Given the description of an element on the screen output the (x, y) to click on. 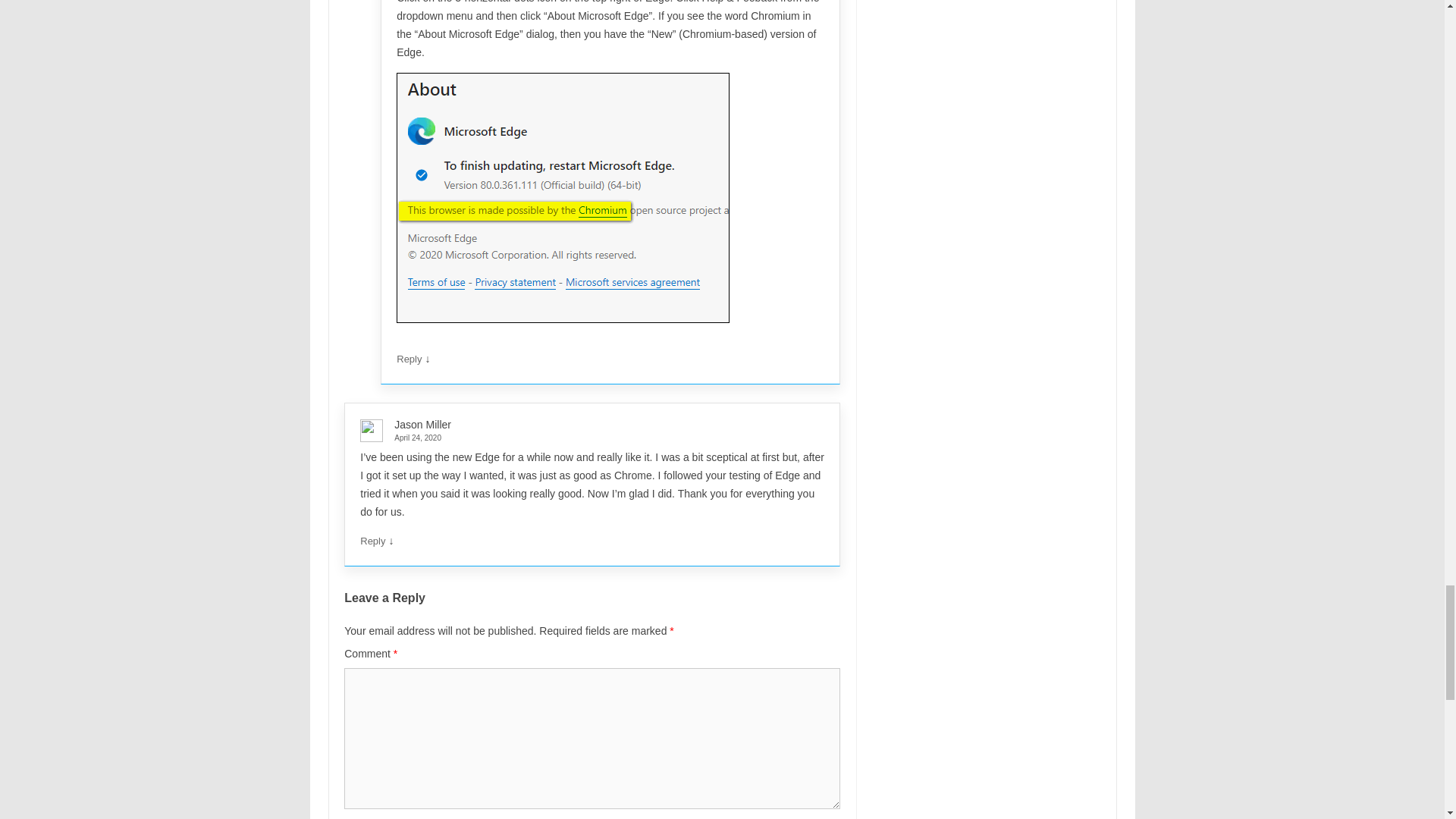
Reply (372, 541)
April 24, 2020 (585, 437)
Reply (409, 358)
